Given the description of an element on the screen output the (x, y) to click on. 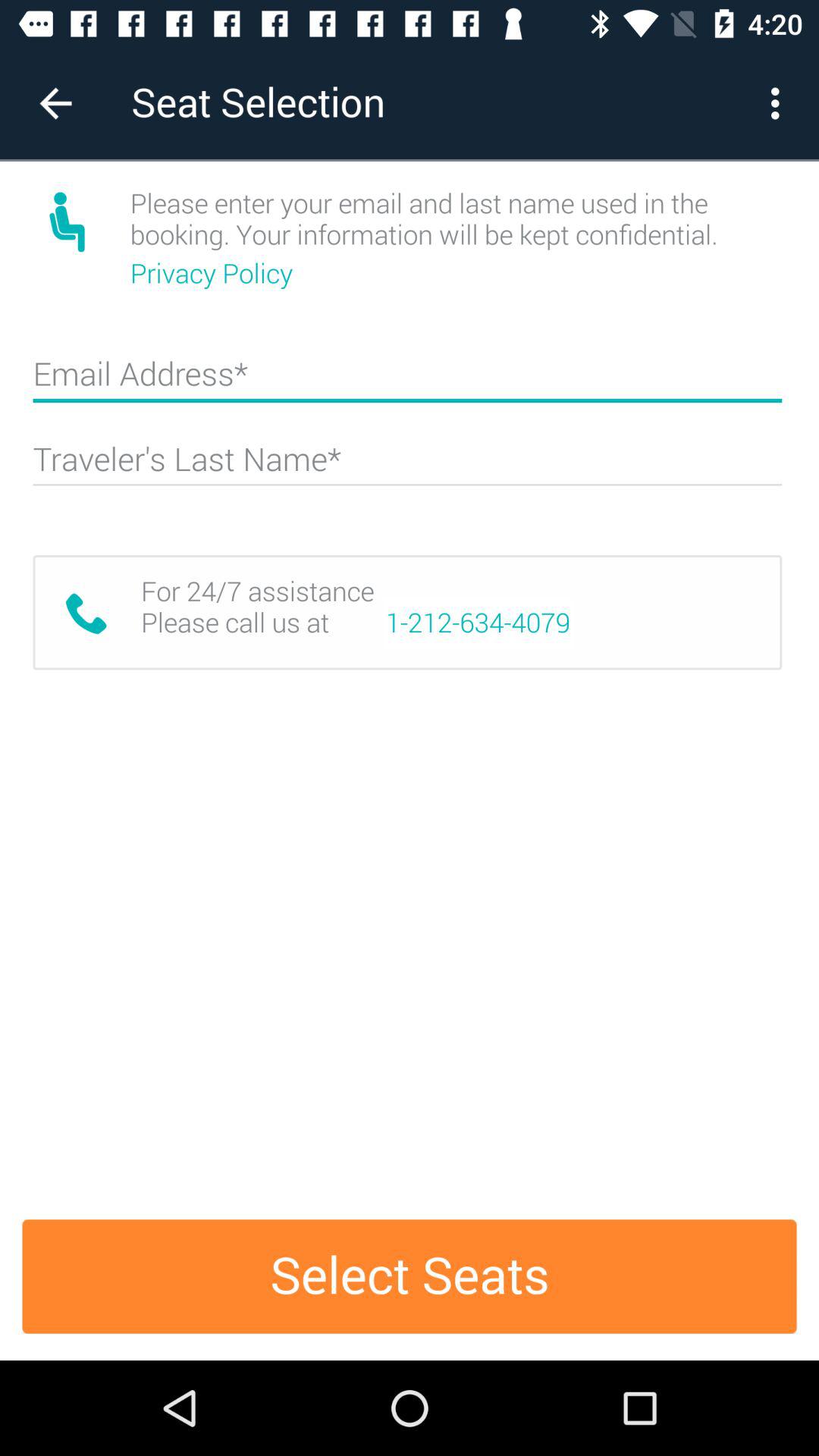
choose the item above select seats icon (477, 622)
